Given the description of an element on the screen output the (x, y) to click on. 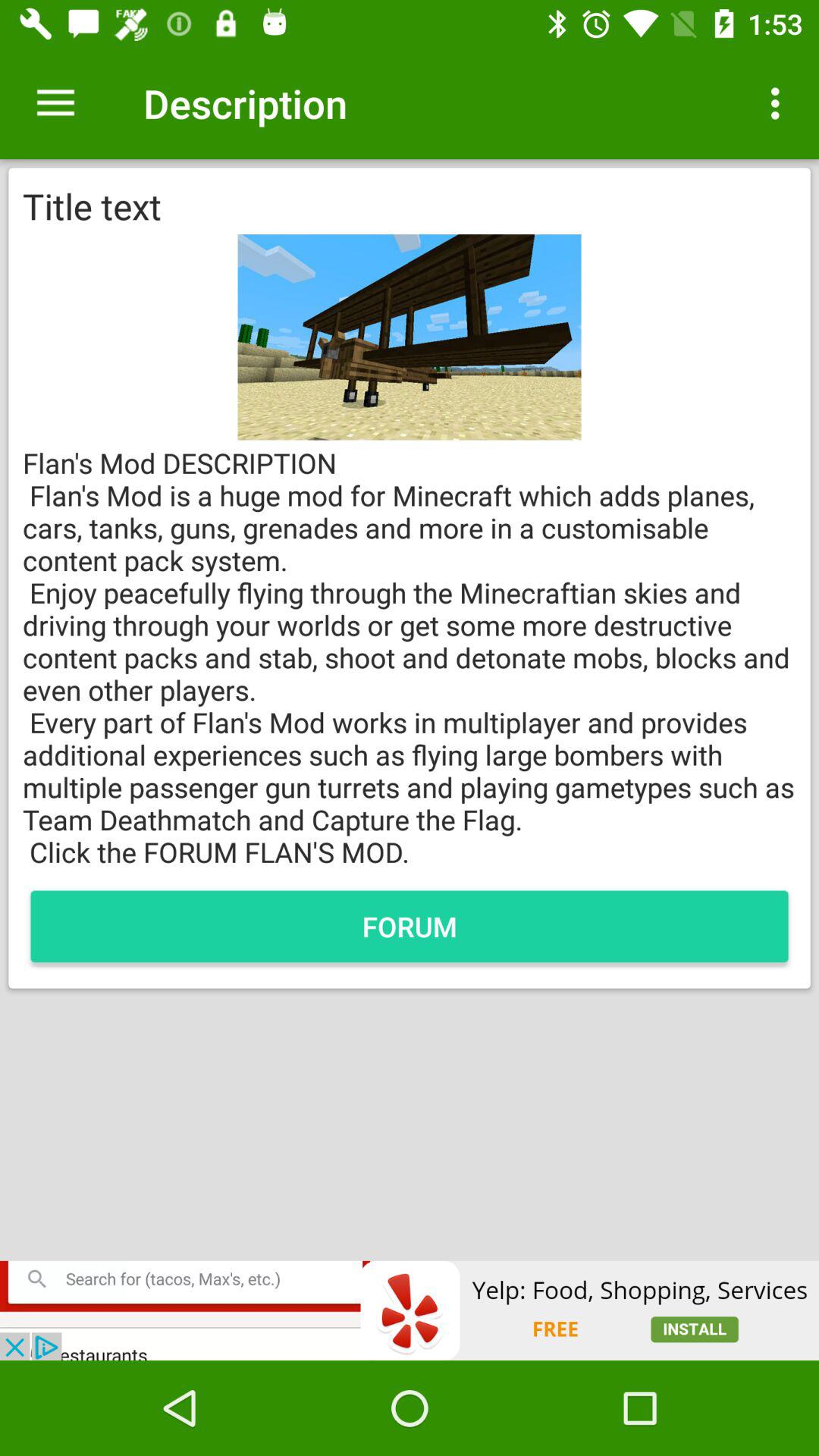
adclick (409, 1310)
